Given the description of an element on the screen output the (x, y) to click on. 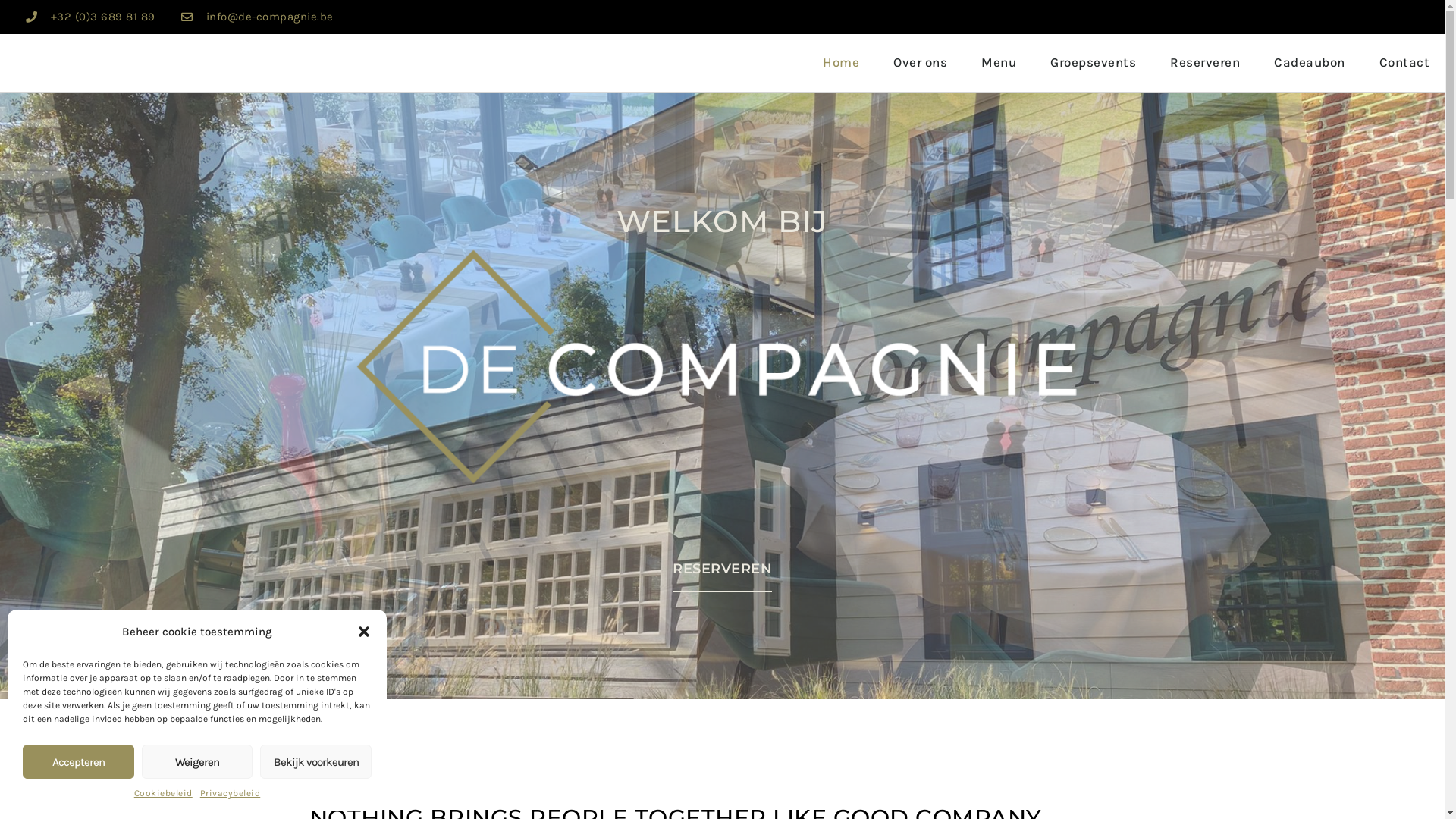
Cookiebeleid Element type: text (163, 793)
Weigeren Element type: text (197, 761)
Privacybeleid Element type: text (230, 793)
Home Element type: text (840, 62)
RESERVEREN Element type: text (721, 569)
Menu Element type: text (998, 62)
Cadeaubon Element type: text (1309, 62)
Contact Element type: text (1403, 62)
+32 (0)3 689 81 89 Element type: text (102, 16)
Over ons Element type: text (920, 62)
Reserveren Element type: text (1204, 62)
Groepsevents Element type: text (1093, 62)
info@de-compagnie.be Element type: text (269, 16)
Accepteren Element type: text (78, 761)
Bekijk voorkeuren Element type: text (315, 761)
